Given the description of an element on the screen output the (x, y) to click on. 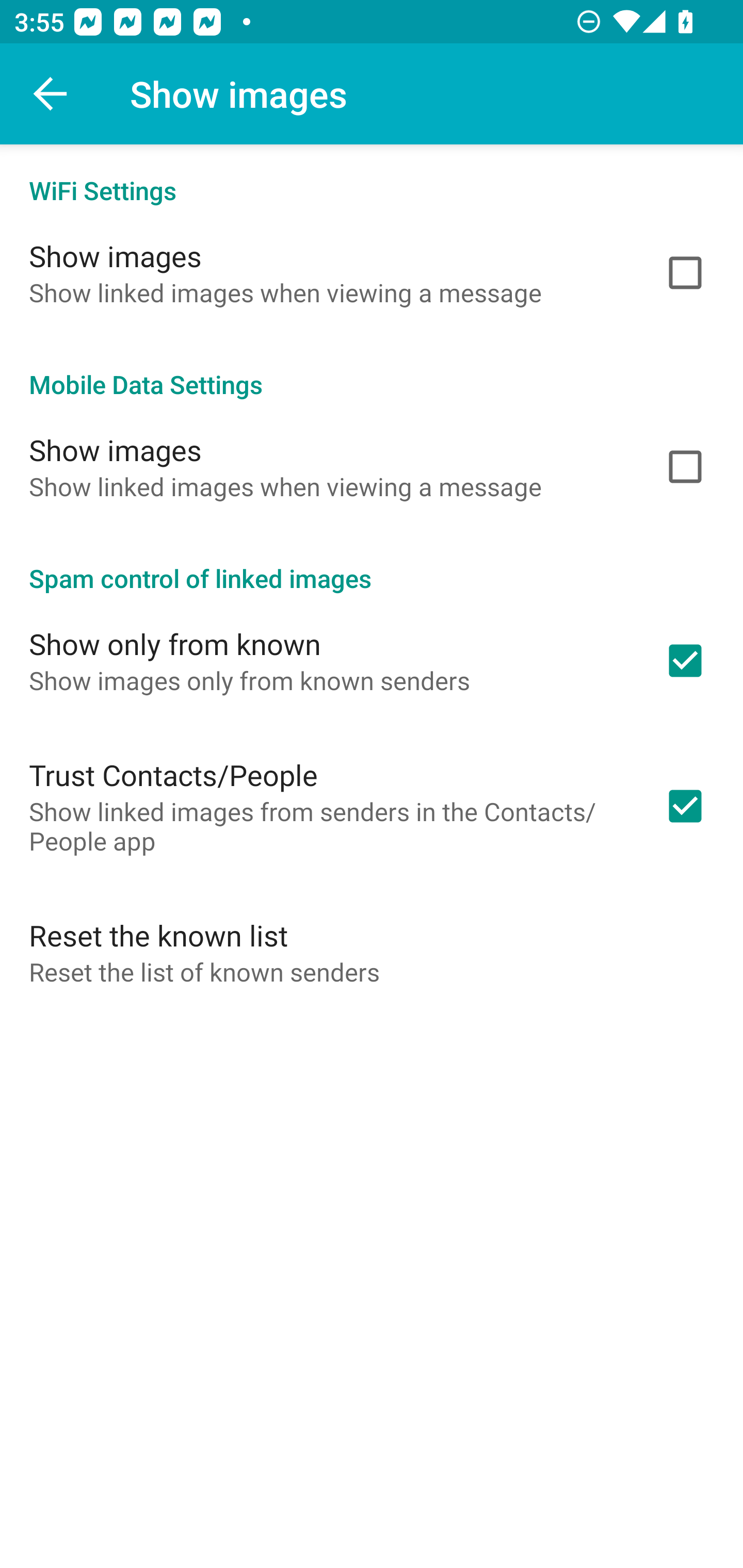
Navigate up (50, 93)
